Given the description of an element on the screen output the (x, y) to click on. 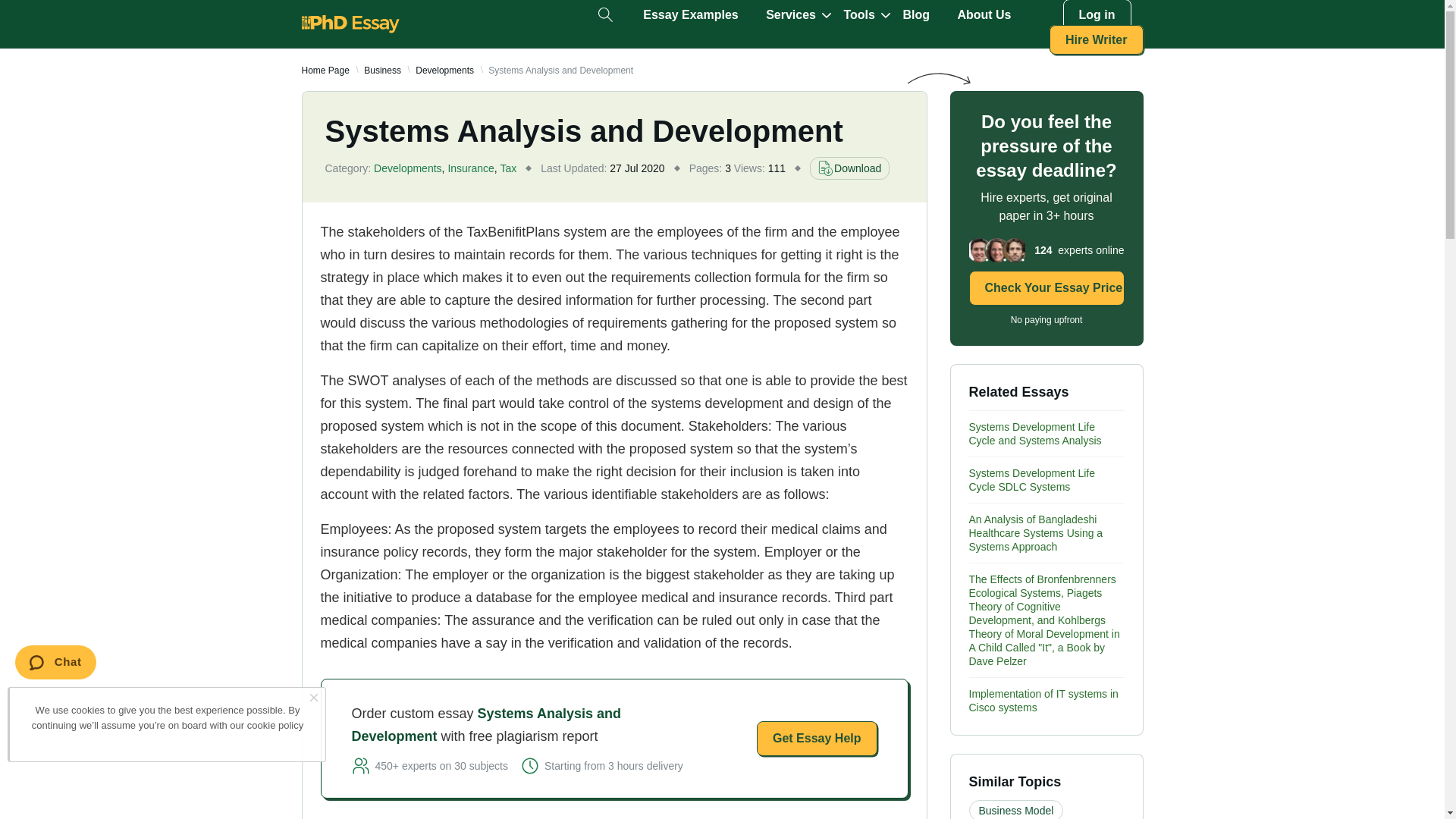
Services (790, 15)
Blog (916, 15)
Hire Writer (1095, 39)
Developments (444, 70)
Get Essay Help (817, 738)
Download (849, 168)
Business (382, 70)
Log in (1096, 15)
Tools (859, 15)
About Us (983, 15)
